Given the description of an element on the screen output the (x, y) to click on. 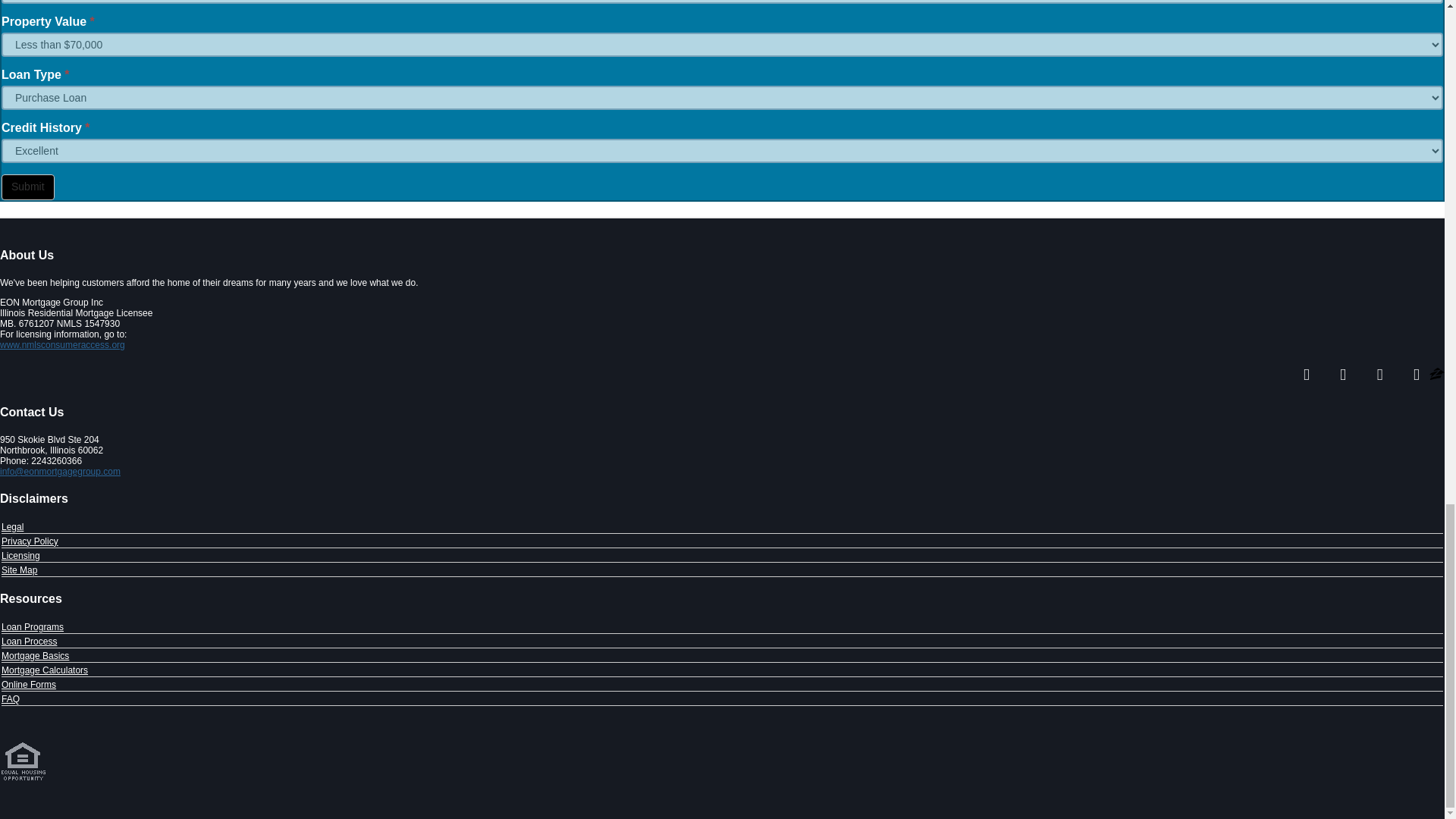
Online Forms (28, 684)
Submit (28, 186)
Site Map (19, 570)
Loan Process (28, 641)
Mortgage Basics (34, 655)
Loan Programs (32, 626)
Mortgage Calculators (44, 670)
Privacy Policy (29, 541)
www.nmlsconsumeraccess.org (62, 344)
Licensing (20, 555)
Legal (12, 526)
